Given the description of an element on the screen output the (x, y) to click on. 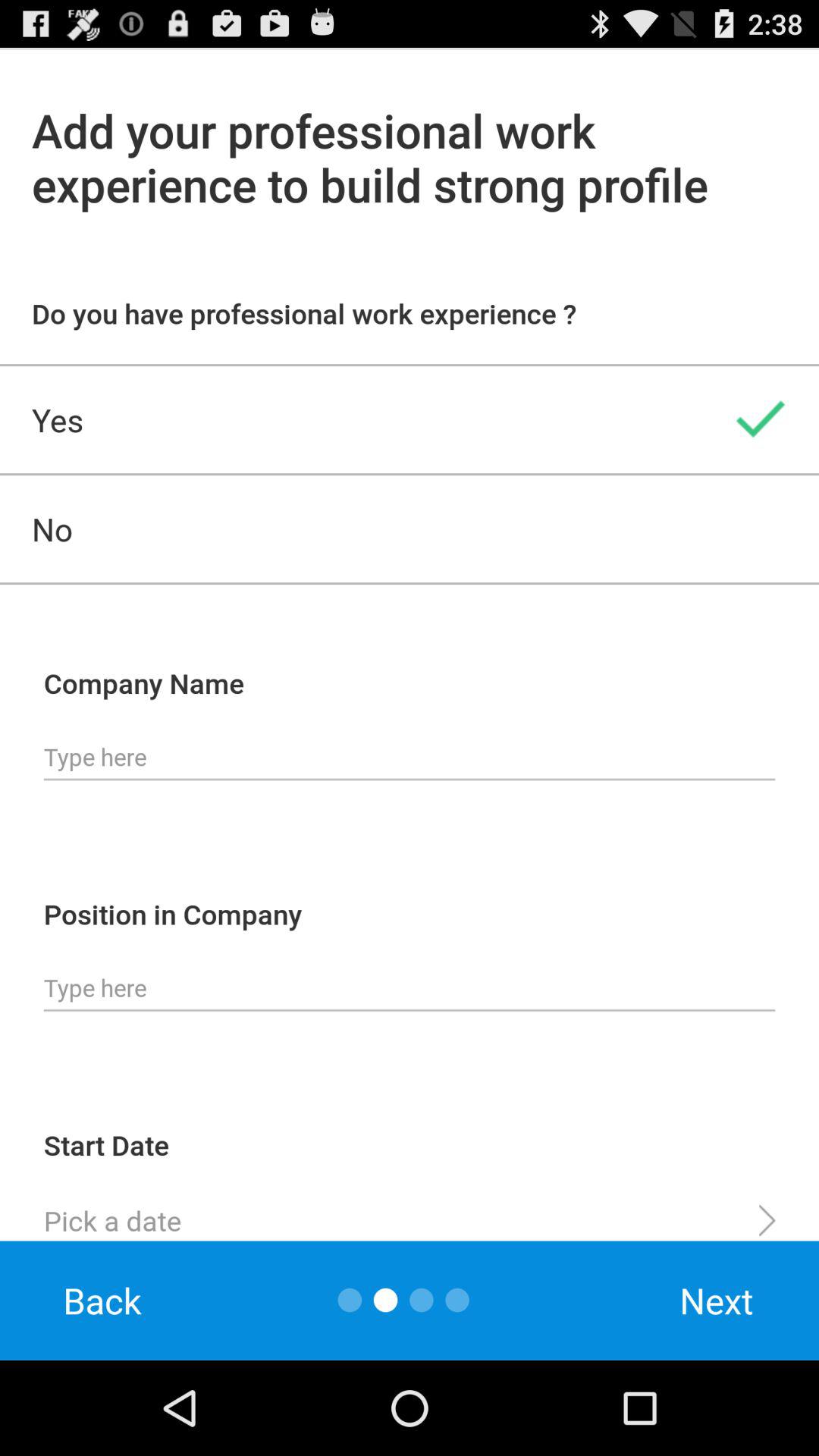
click next (716, 1300)
